Given the description of an element on the screen output the (x, y) to click on. 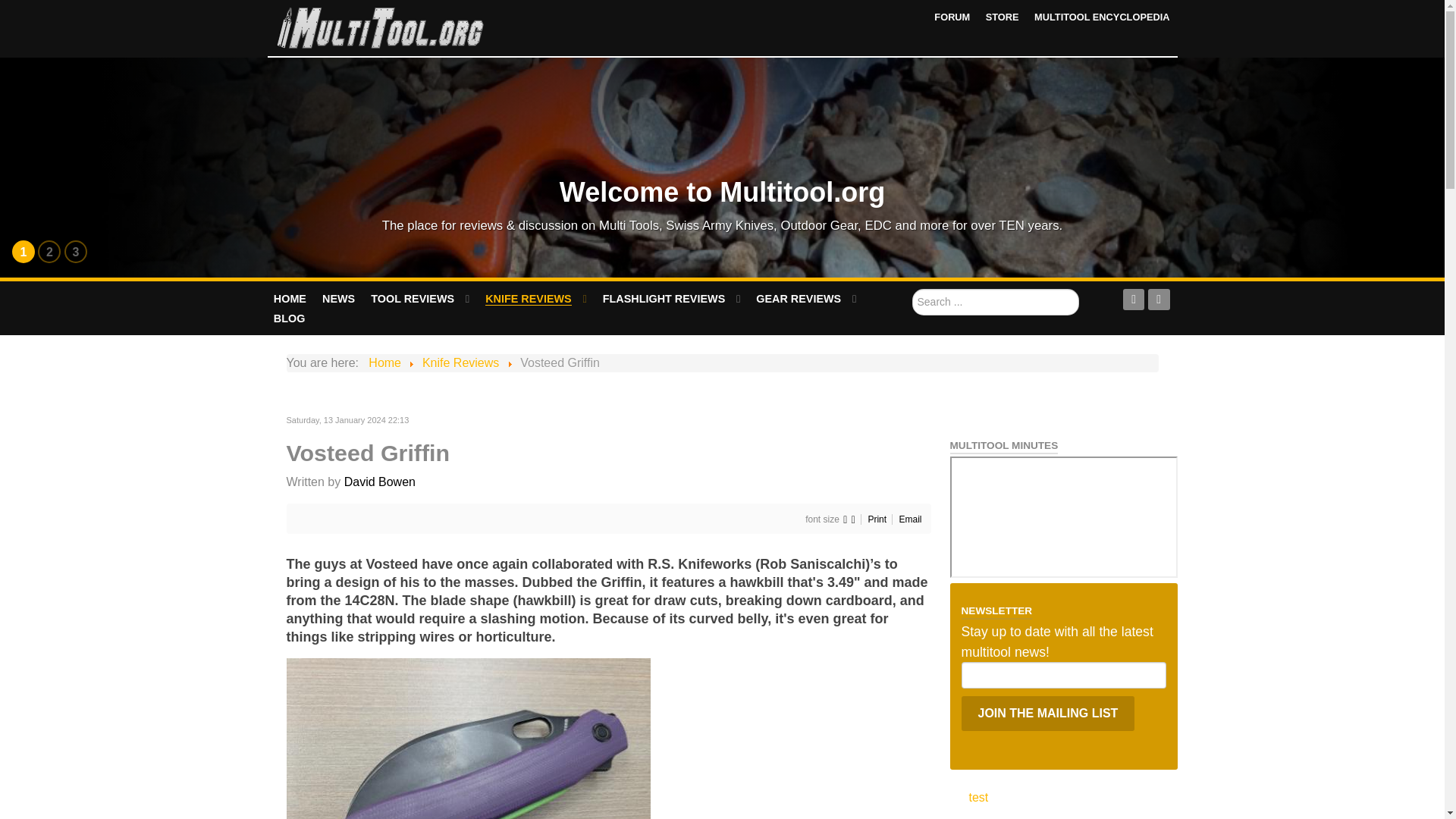
Store (1002, 16)
Email Address... (1063, 674)
NEWS (339, 298)
TOOL REVIEWS (420, 298)
Forum (951, 16)
MULTITOOL ENCYCLOPEDIA (1101, 16)
STORE (1002, 16)
Multitool Encyclopedia (1101, 16)
HOME (289, 298)
FORUM (951, 16)
